Given the description of an element on the screen output the (x, y) to click on. 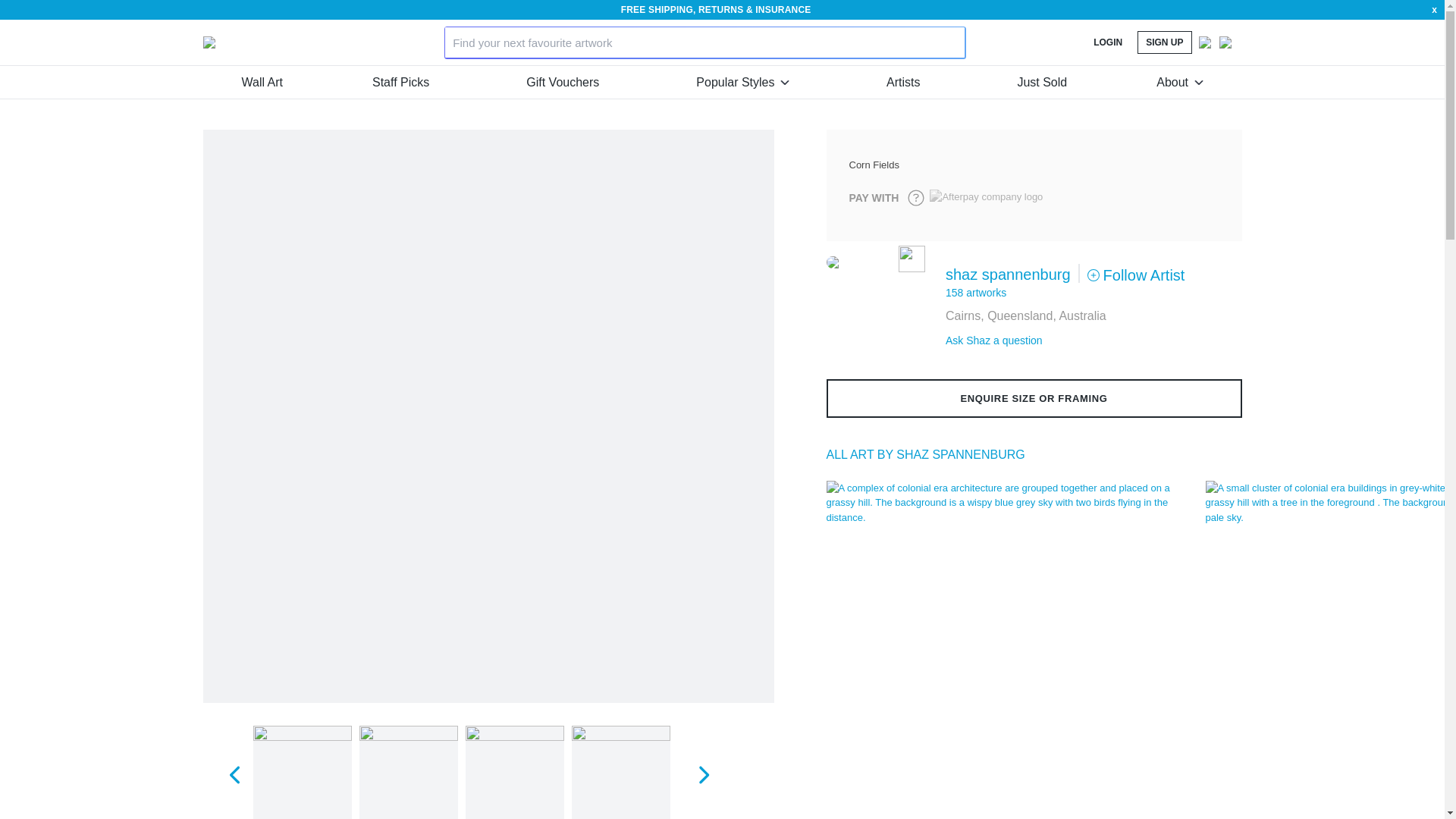
About (1179, 81)
Staff Picks (400, 81)
Popular Styles (742, 81)
Artists (903, 81)
x (1434, 9)
LOGIN (1107, 42)
SIGN UP (1164, 42)
Wall Art (261, 81)
Gift Vouchers (561, 81)
Just Sold (1041, 81)
